Given the description of an element on the screen output the (x, y) to click on. 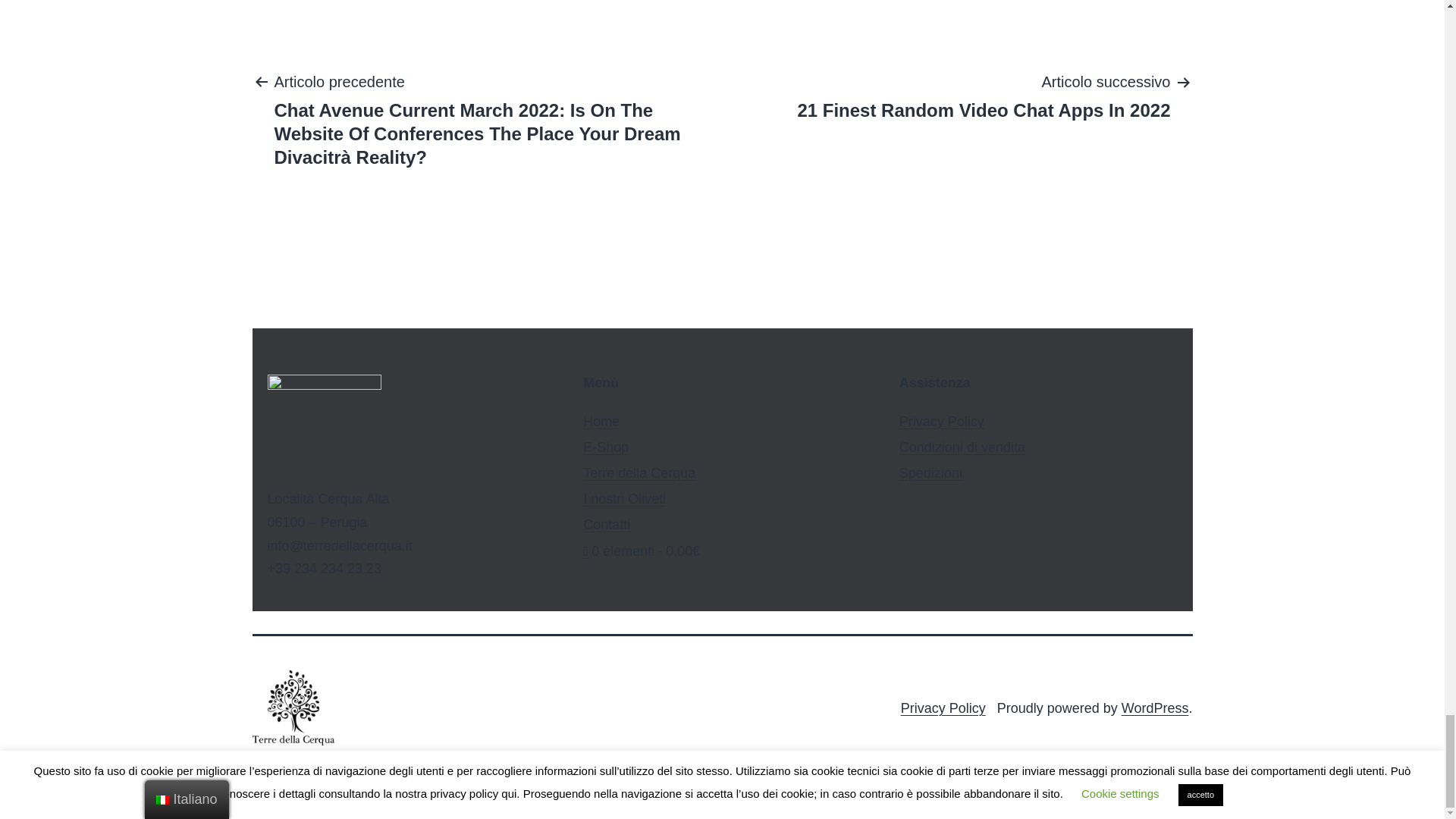
WordPress (1155, 708)
I nostri Oliveti (624, 498)
Privacy Policy (941, 421)
Contatti (983, 95)
Home (606, 524)
Condizioni di vendita (601, 421)
E-Shop (962, 447)
Vai al negozio (605, 447)
Terre della Cerqua (641, 550)
Privacy Policy (639, 473)
Spedizioni (943, 708)
